Given the description of an element on the screen output the (x, y) to click on. 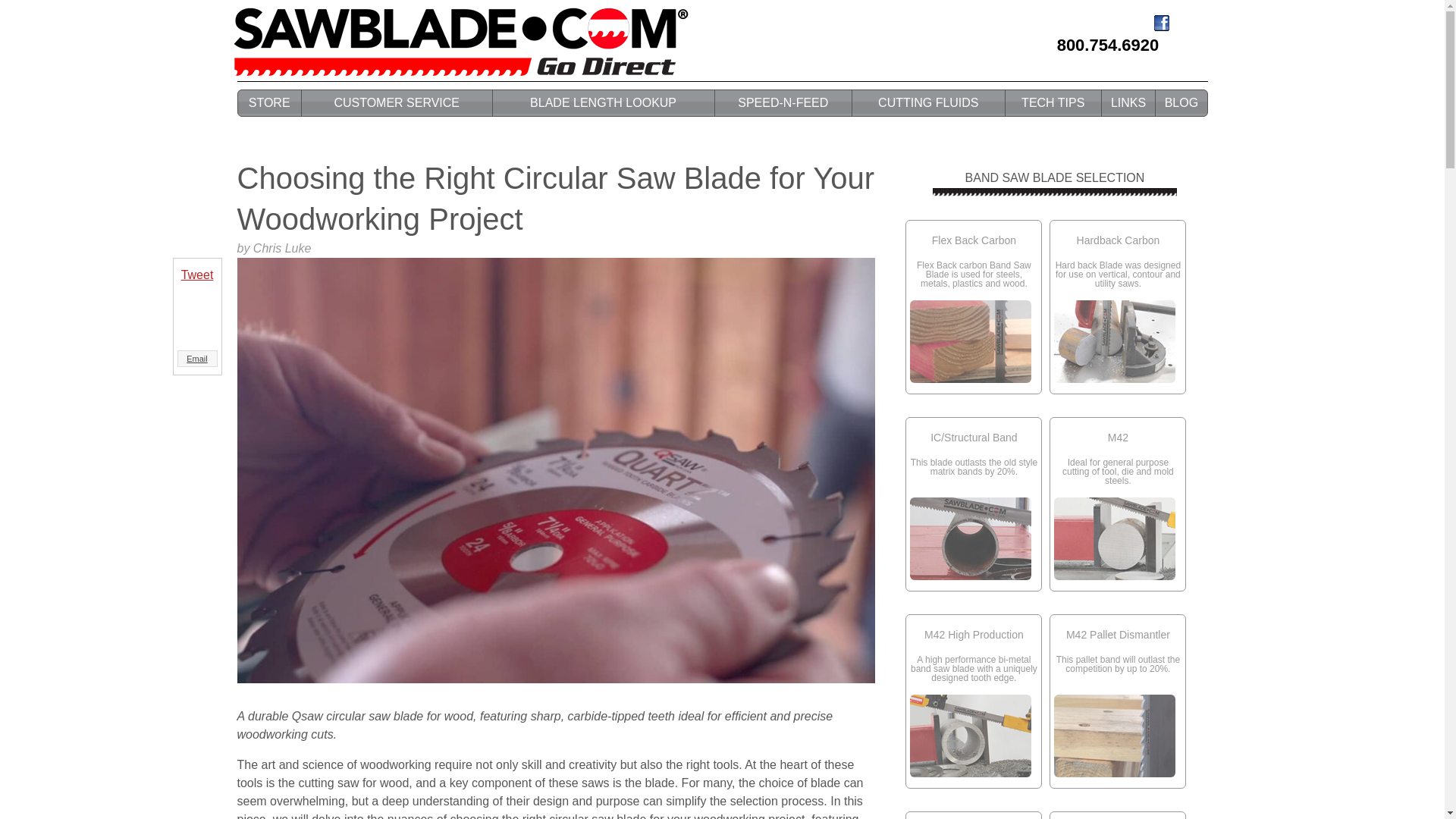
CUSTOMER SERVICE (397, 103)
BLADE LENGTH LOOKUP (603, 103)
Email (196, 358)
LINKS (1129, 103)
CUTTING FLUIDS (928, 103)
BLOG (1181, 103)
STORE (269, 103)
TECH TIPS (1054, 103)
Tweet (197, 274)
SPEED-N-FEED (782, 103)
